Given the description of an element on the screen output the (x, y) to click on. 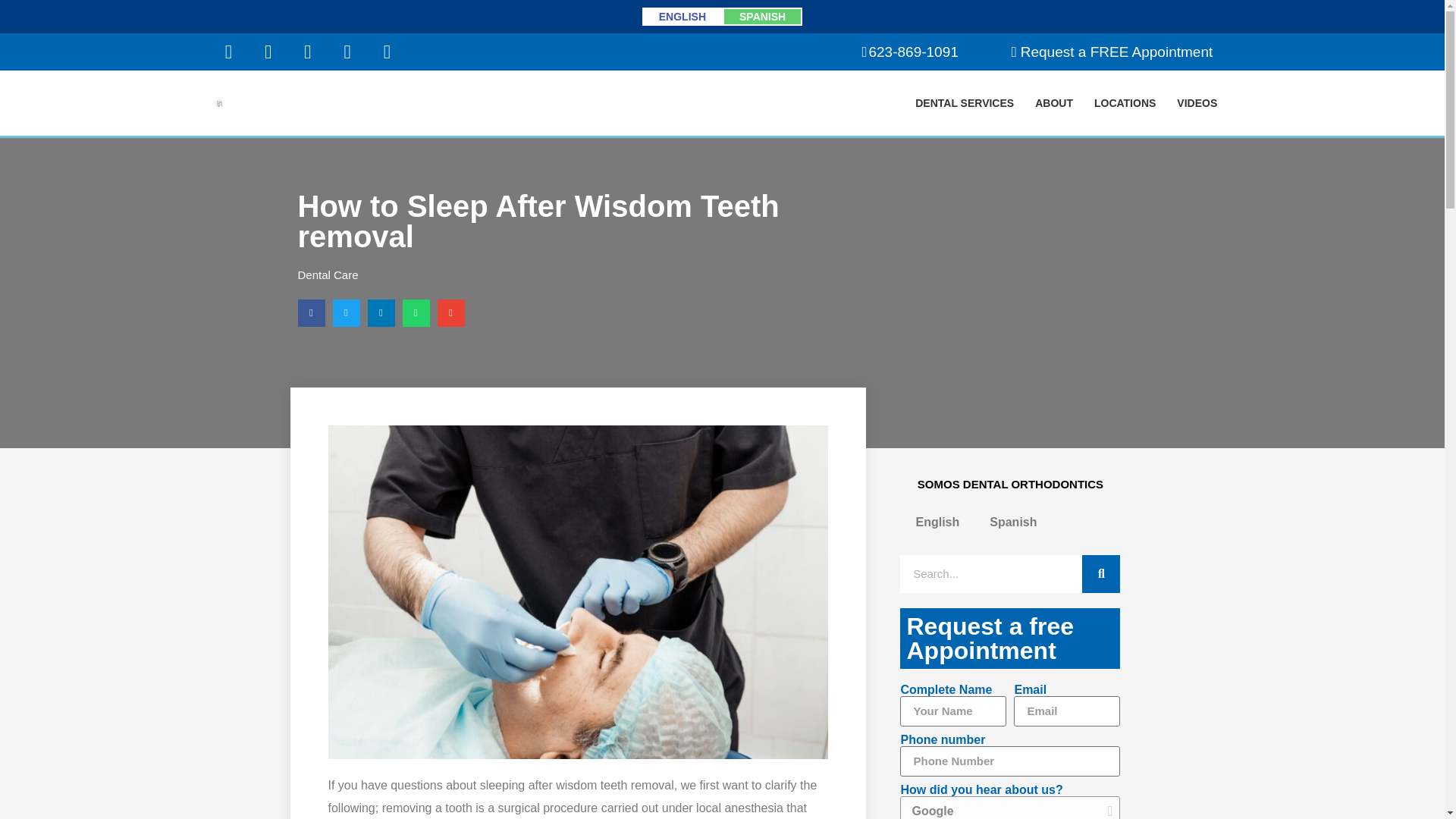
Spanish (762, 16)
623-869-1091 (910, 51)
ENGLISH (682, 16)
ABOUT (1054, 103)
English (936, 522)
English (682, 16)
SPANISH (762, 16)
LOCATIONS (1124, 103)
Spanish (1012, 522)
Request a FREE Appointment (1111, 51)
VIDEOS (1196, 103)
DENTAL SERVICES (964, 103)
